Given the description of an element on the screen output the (x, y) to click on. 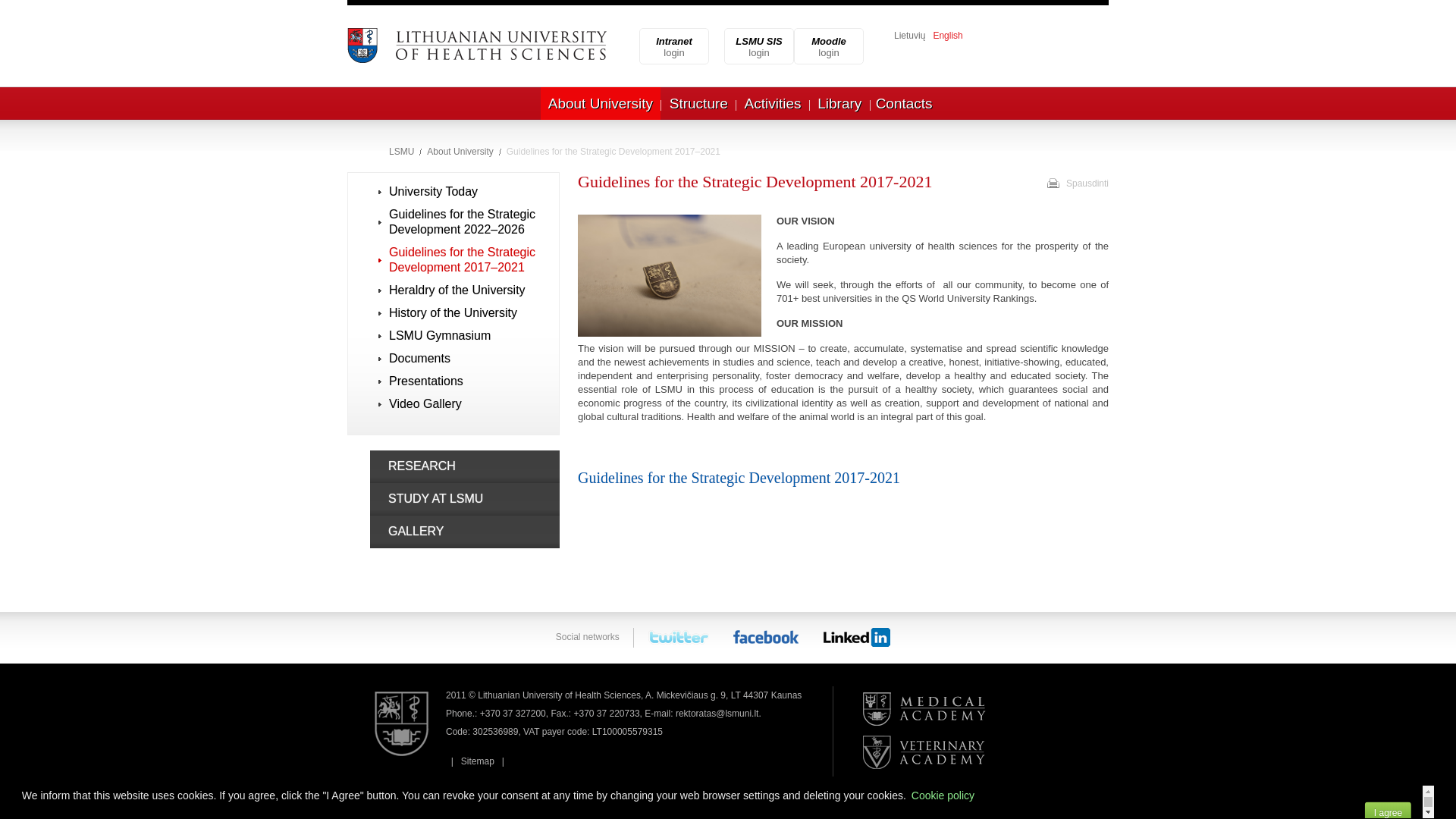
Intranet login (673, 46)
LSMU SIS login (759, 46)
Moodle login (828, 46)
English (673, 46)
About University (759, 46)
English (828, 46)
About University (947, 35)
